Given the description of an element on the screen output the (x, y) to click on. 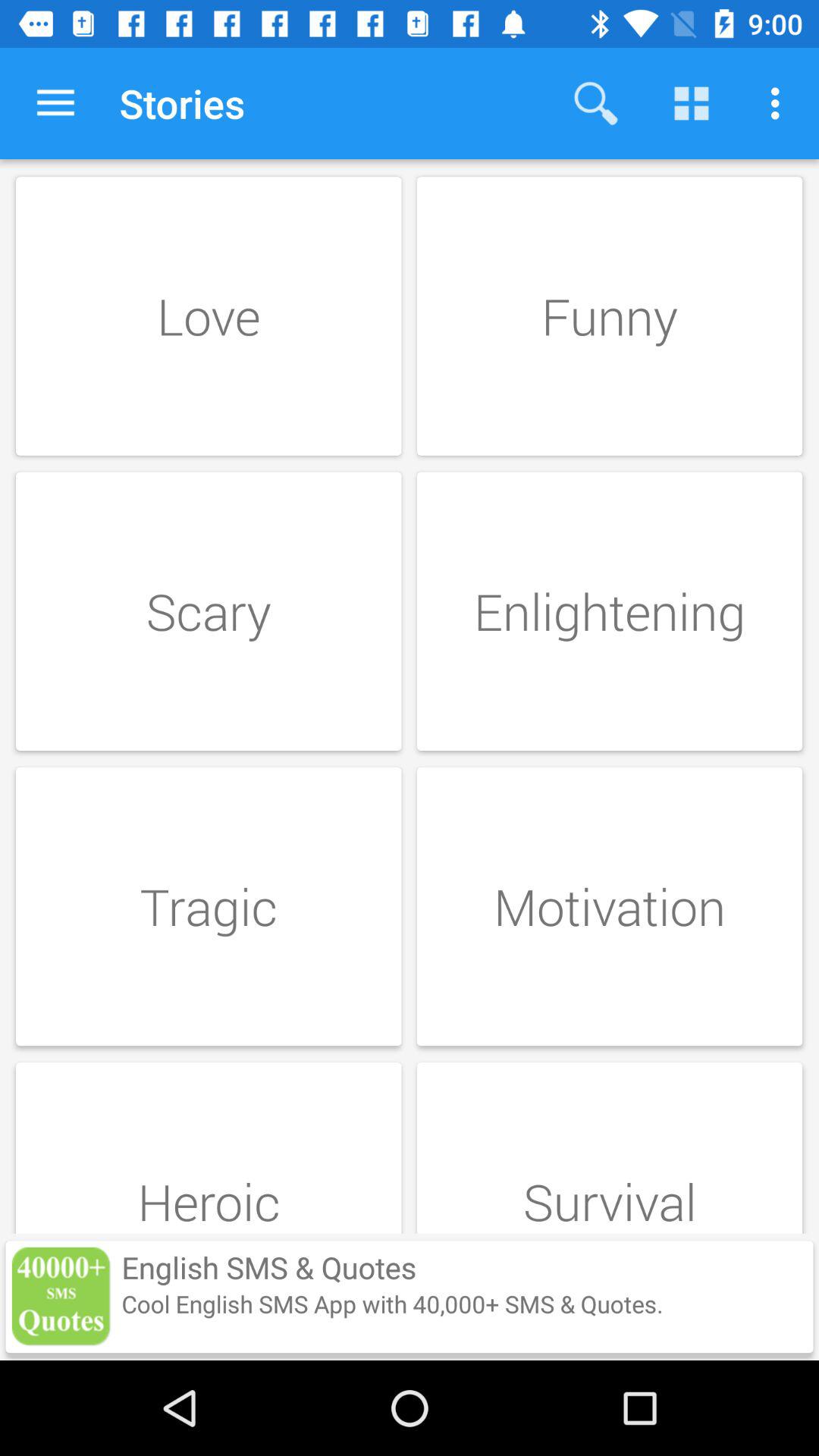
turn on item to the left of stories app (55, 103)
